Given the description of an element on the screen output the (x, y) to click on. 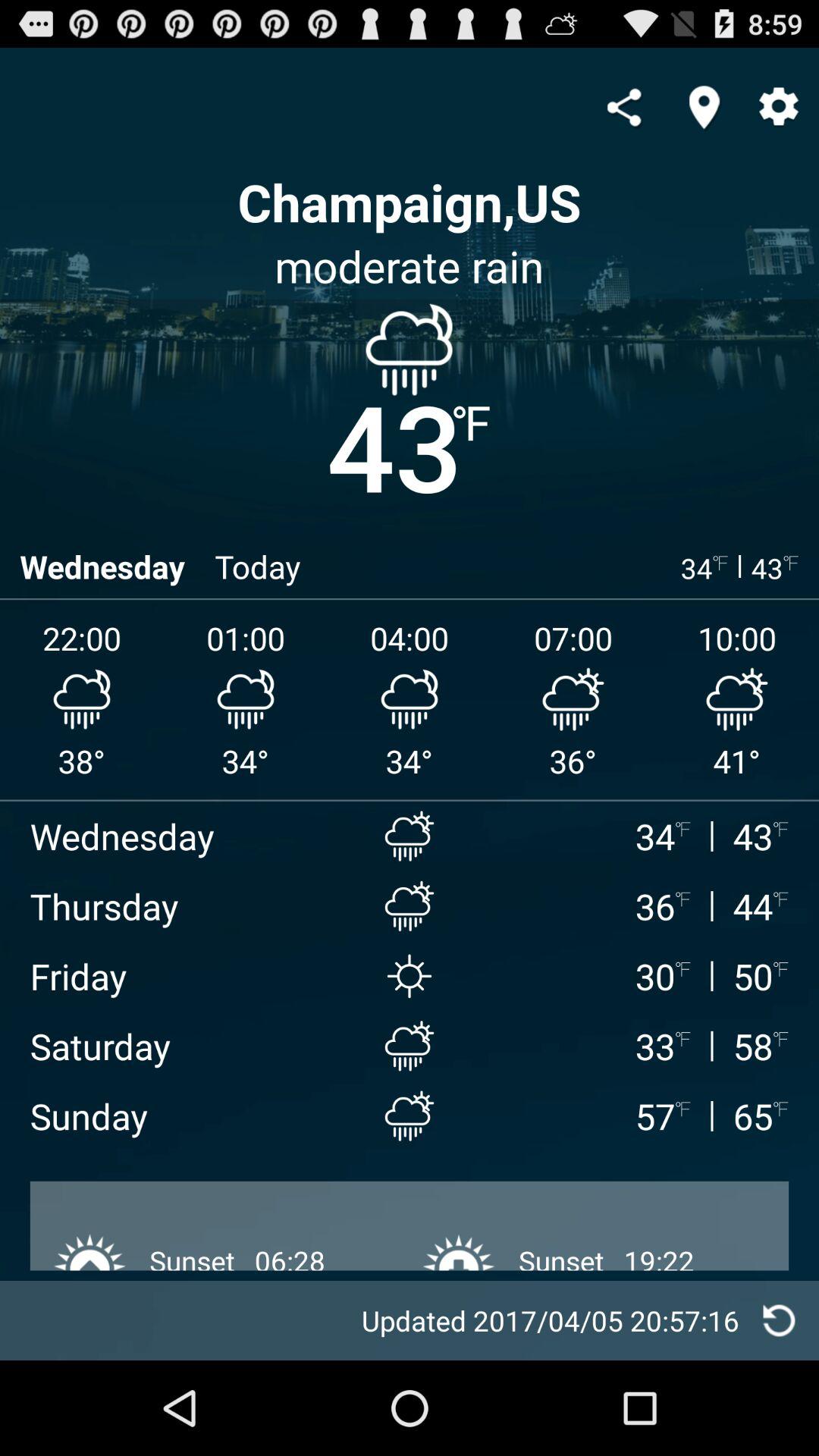
share your location (704, 107)
